Given the description of an element on the screen output the (x, y) to click on. 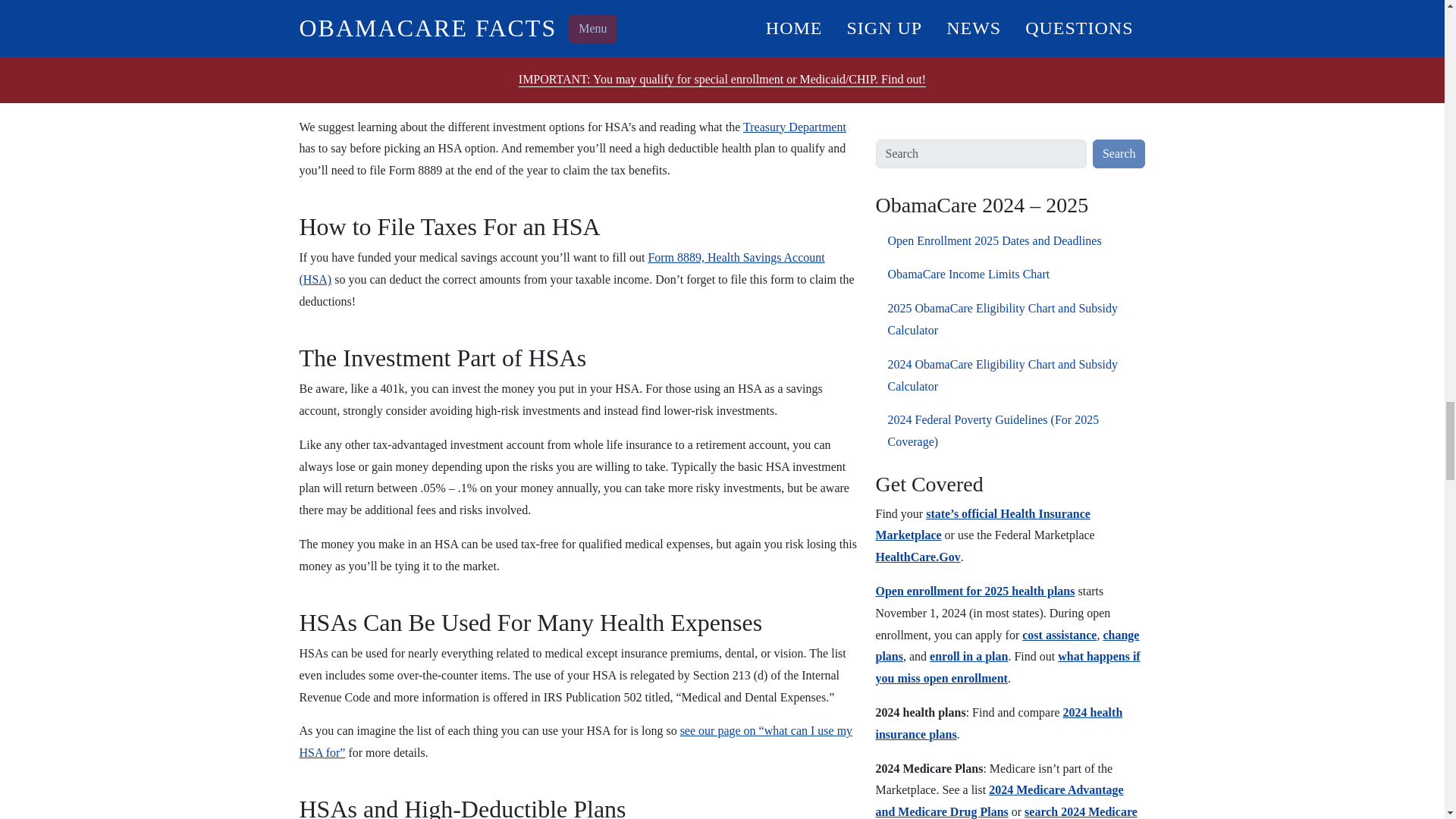
health savings account form 8889 (561, 267)
BOA HSA (760, 70)
